Given the description of an element on the screen output the (x, y) to click on. 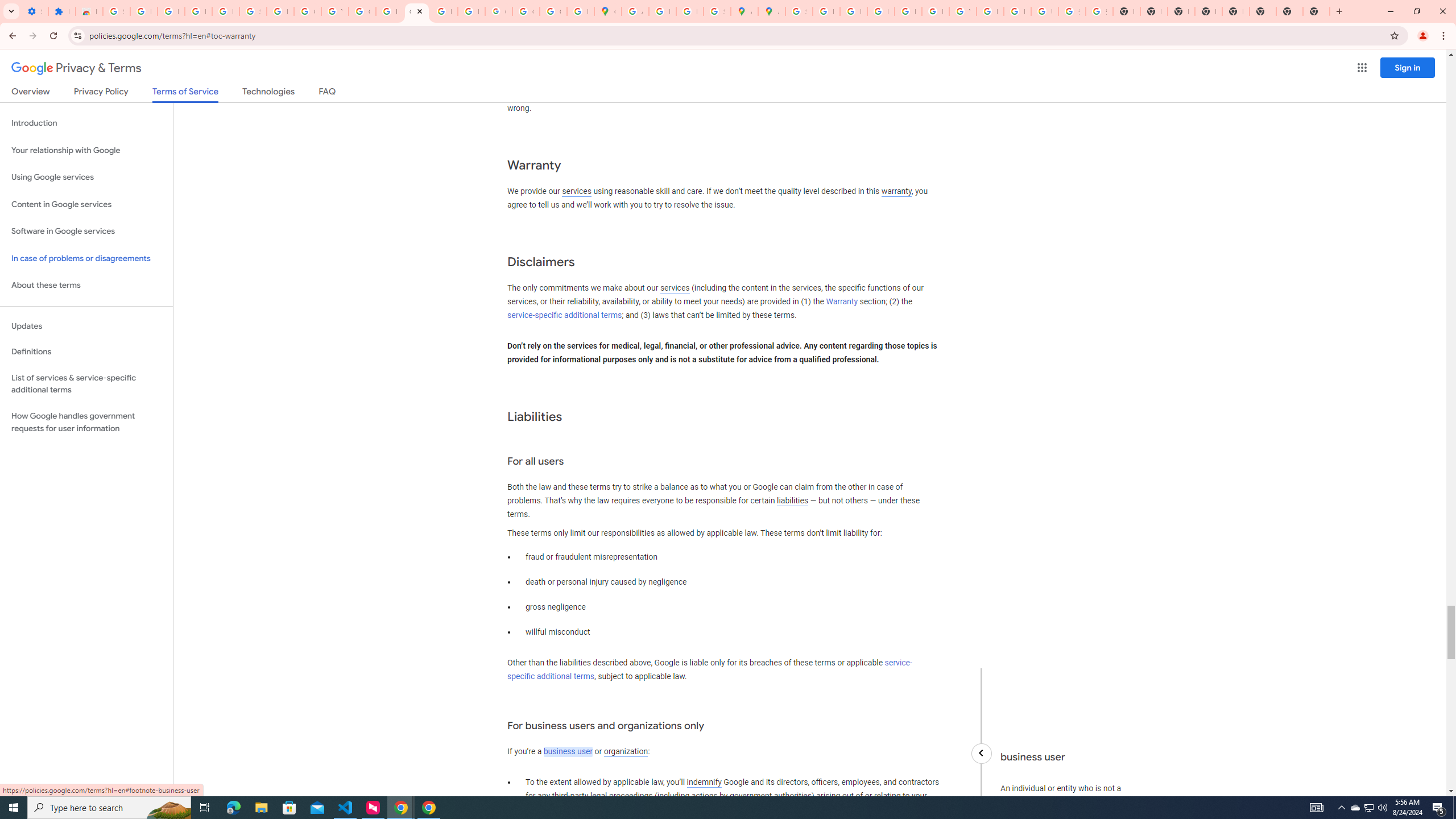
warranty (895, 191)
YouTube (334, 11)
New Tab (1316, 11)
List of services & service-specific additional terms (86, 383)
